Given the description of an element on the screen output the (x, y) to click on. 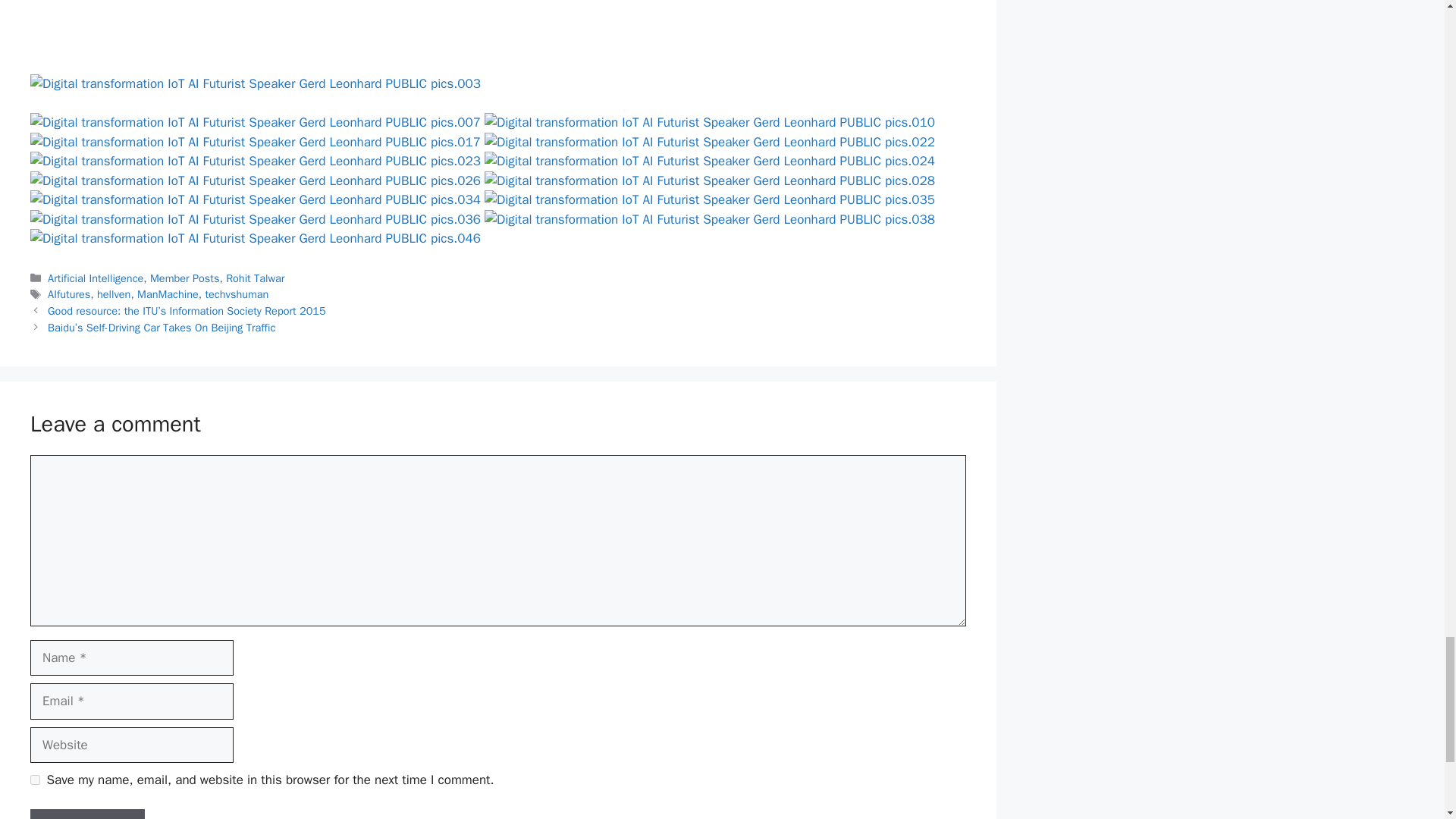
Post Comment (87, 814)
yes (35, 779)
